Given the description of an element on the screen output the (x, y) to click on. 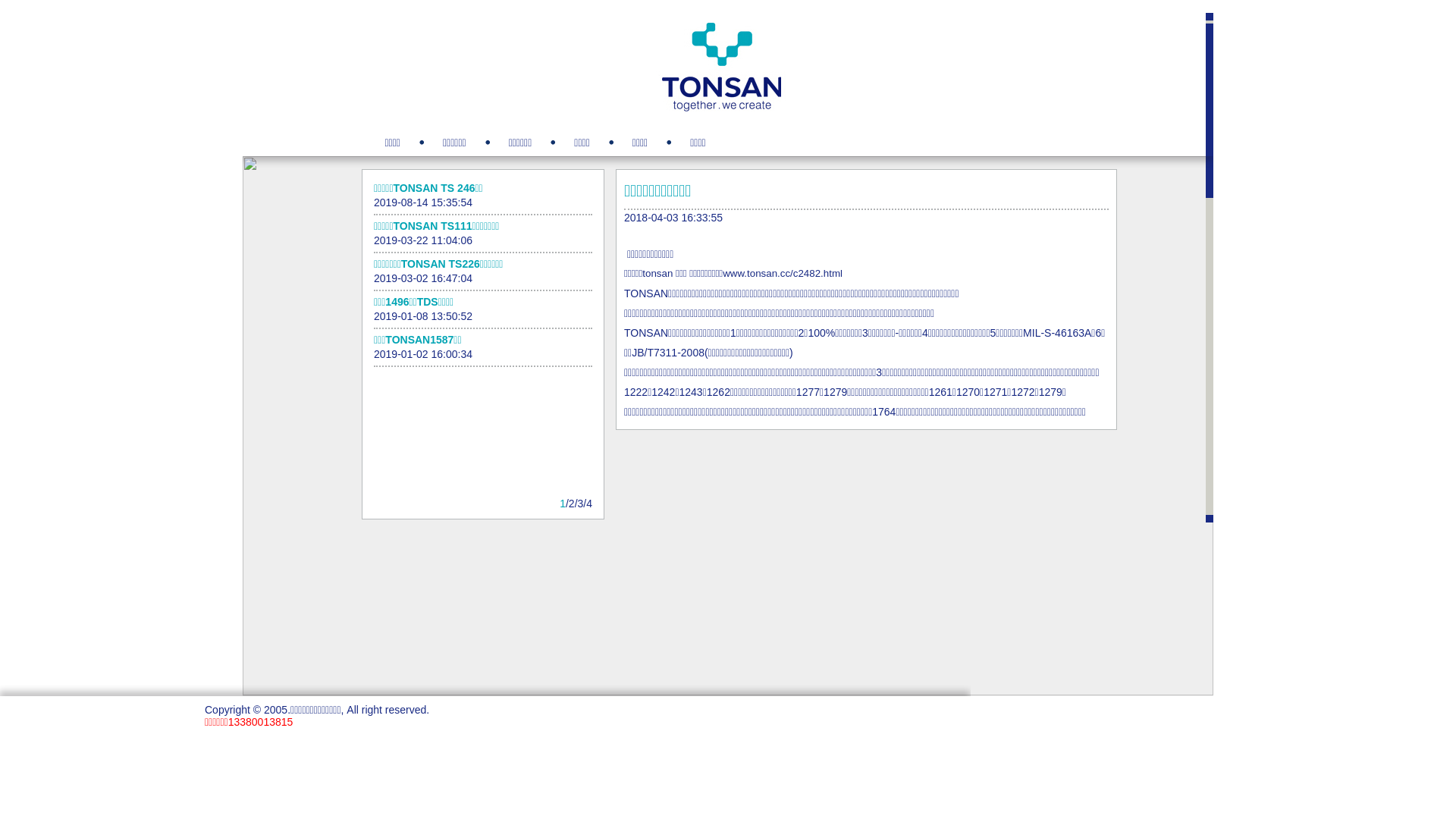
4 Element type: text (589, 503)
2 Element type: text (571, 503)
3 Element type: text (580, 503)
1 Element type: text (562, 503)
